Given the description of an element on the screen output the (x, y) to click on. 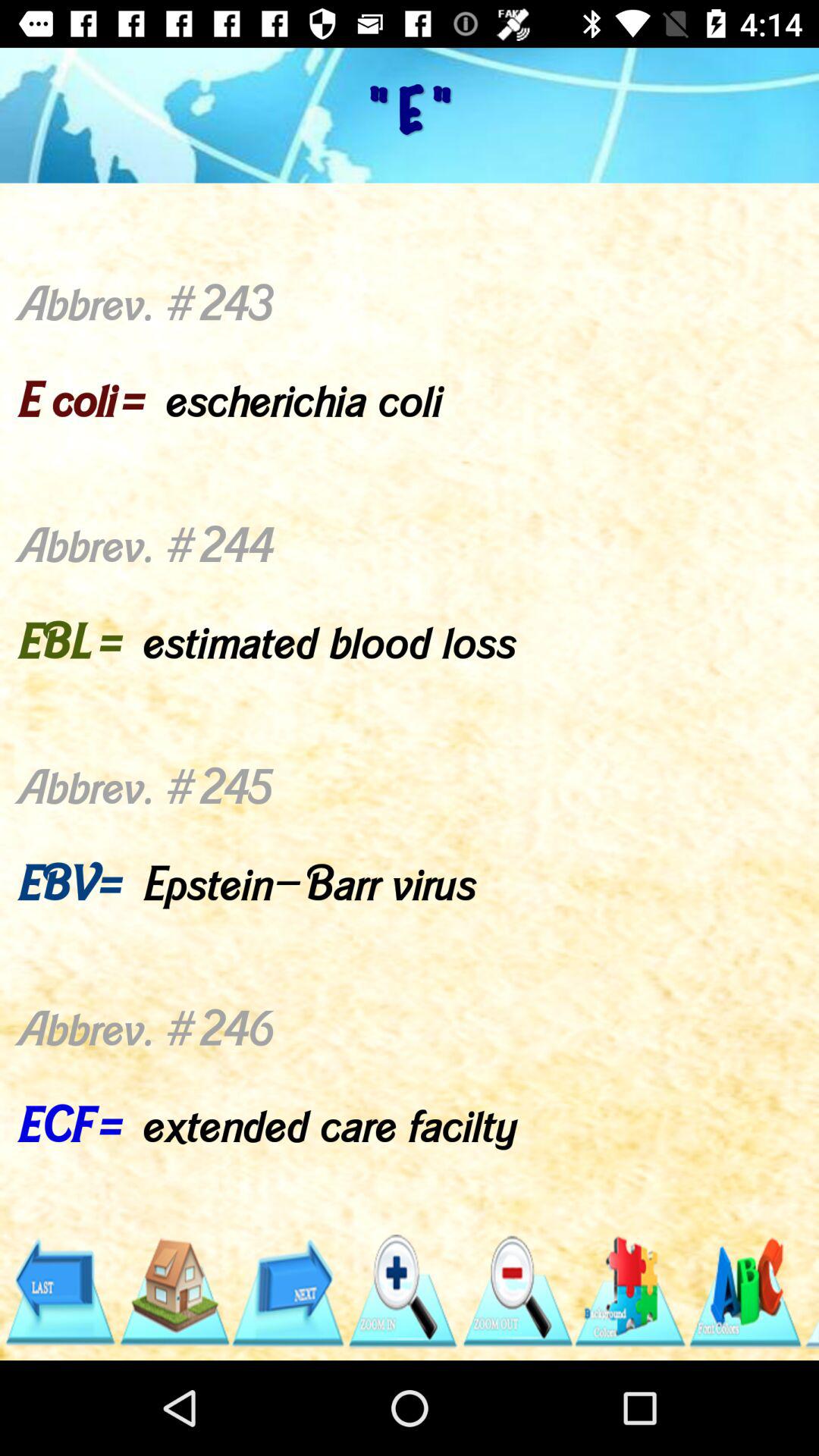
toggle minimize option (516, 1291)
